Given the description of an element on the screen output the (x, y) to click on. 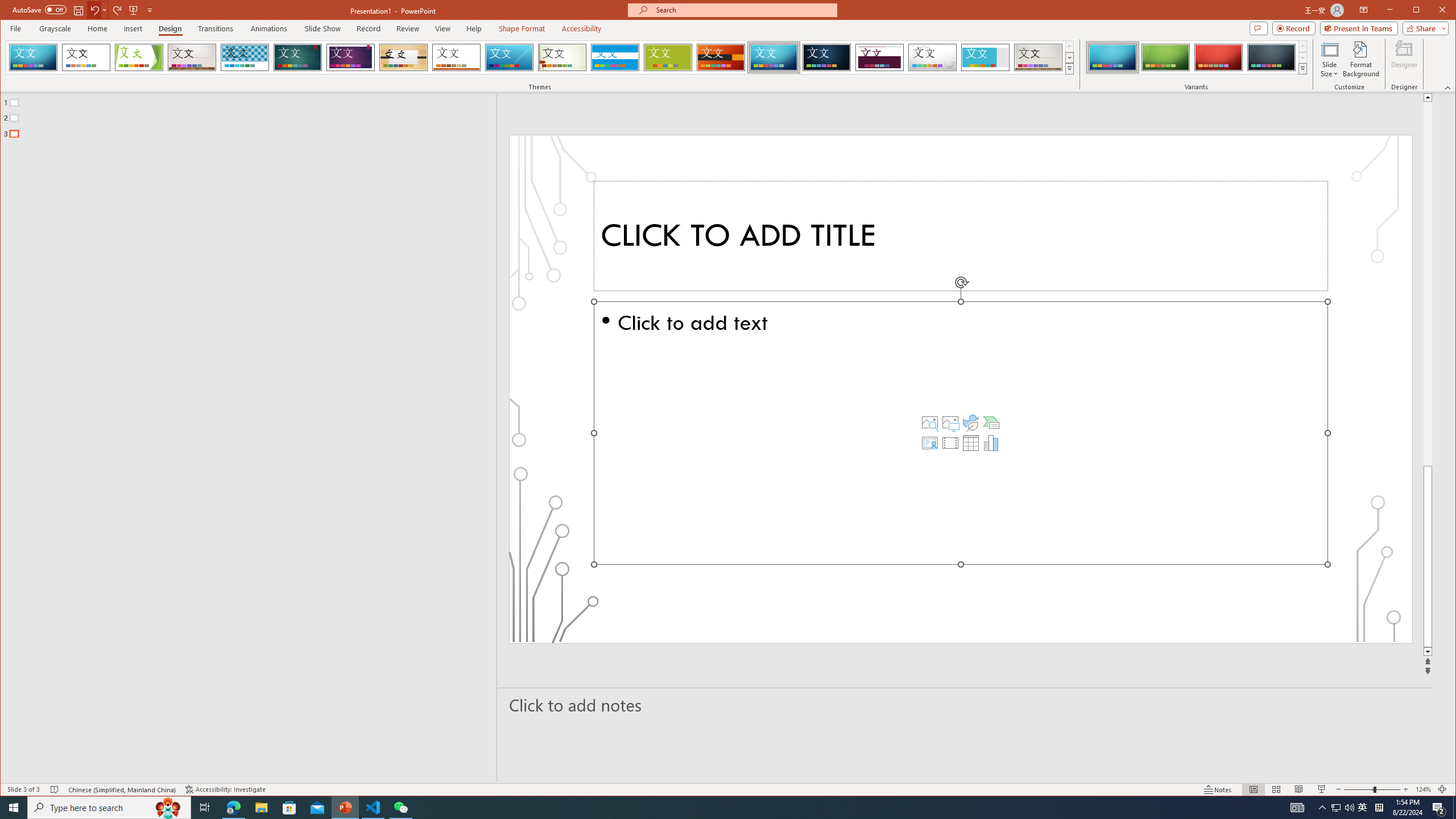
Pictures (949, 422)
Circuit Variant 4 (1270, 57)
Office Theme (85, 57)
Variants (1302, 68)
Insert Video (949, 443)
Circuit (773, 57)
